Given the description of an element on the screen output the (x, y) to click on. 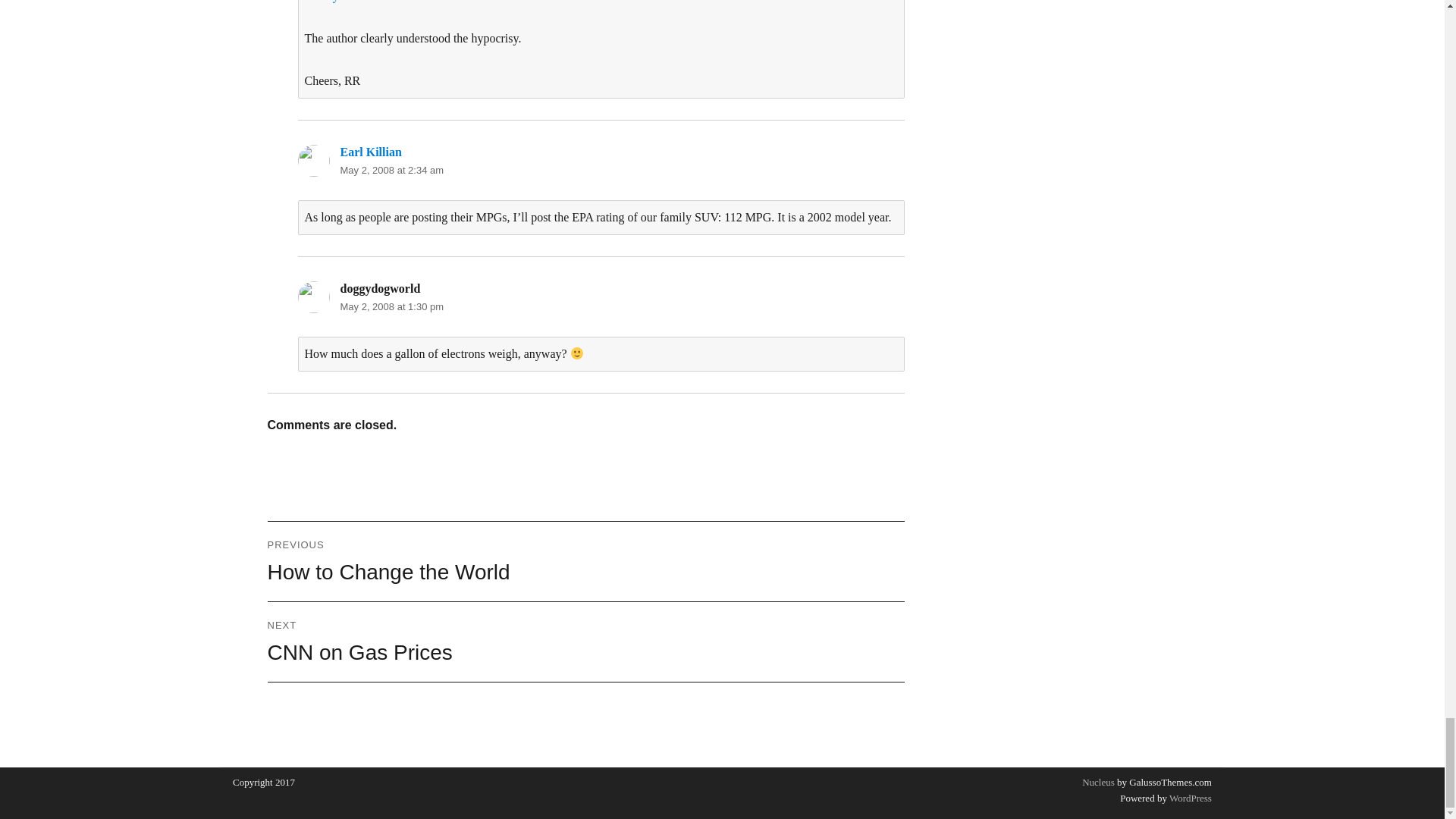
Semantic Personal Publishing Platform (1189, 797)
